Given the description of an element on the screen output the (x, y) to click on. 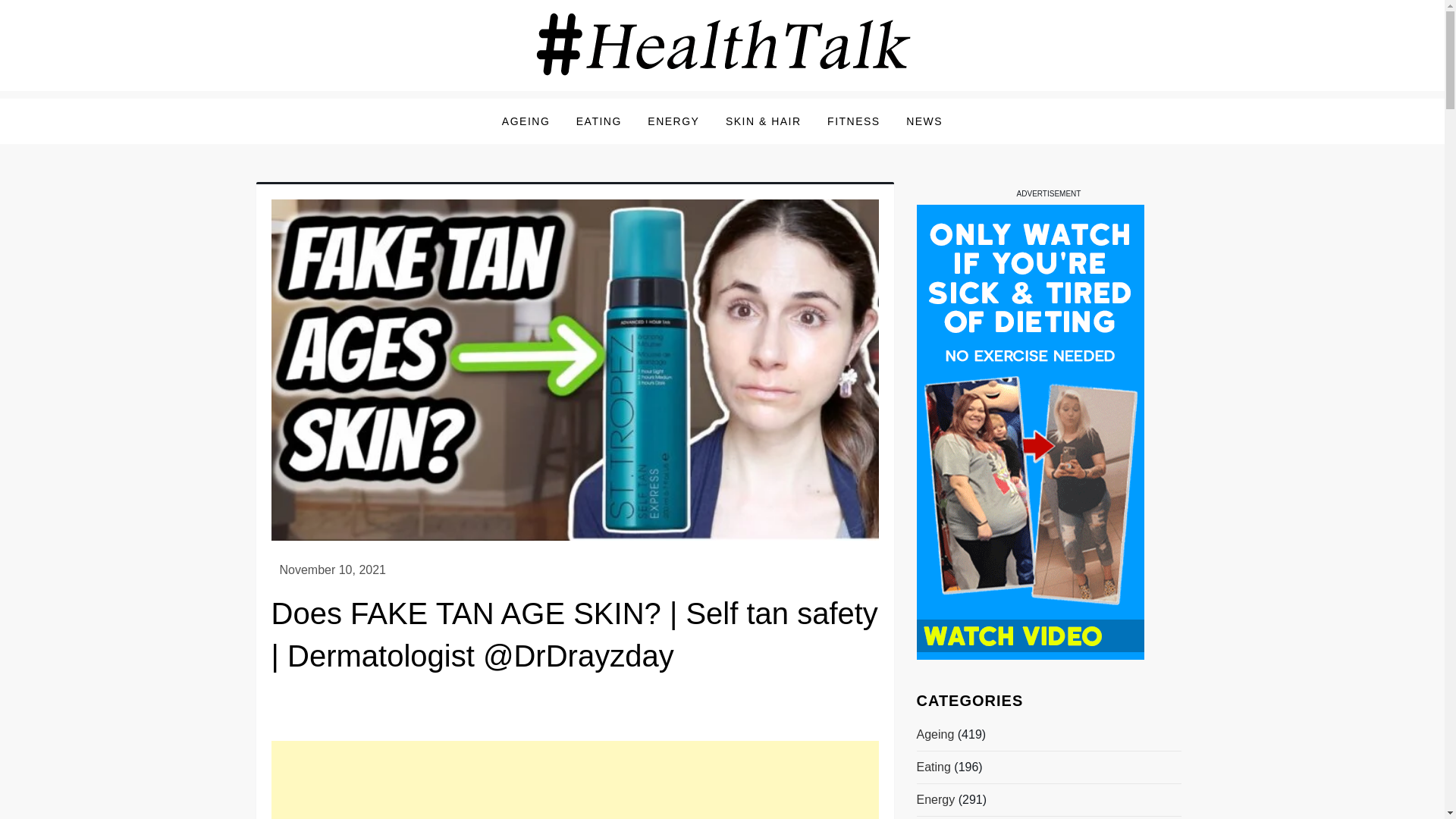
Hashtag Health Talk (391, 101)
November 10, 2021 (332, 569)
Advertisement (574, 780)
ENERGY (673, 121)
NEWS (924, 121)
FITNESS (853, 121)
AGEING (525, 121)
Energy (935, 799)
Ageing (934, 734)
EATING (598, 121)
